Given the description of an element on the screen output the (x, y) to click on. 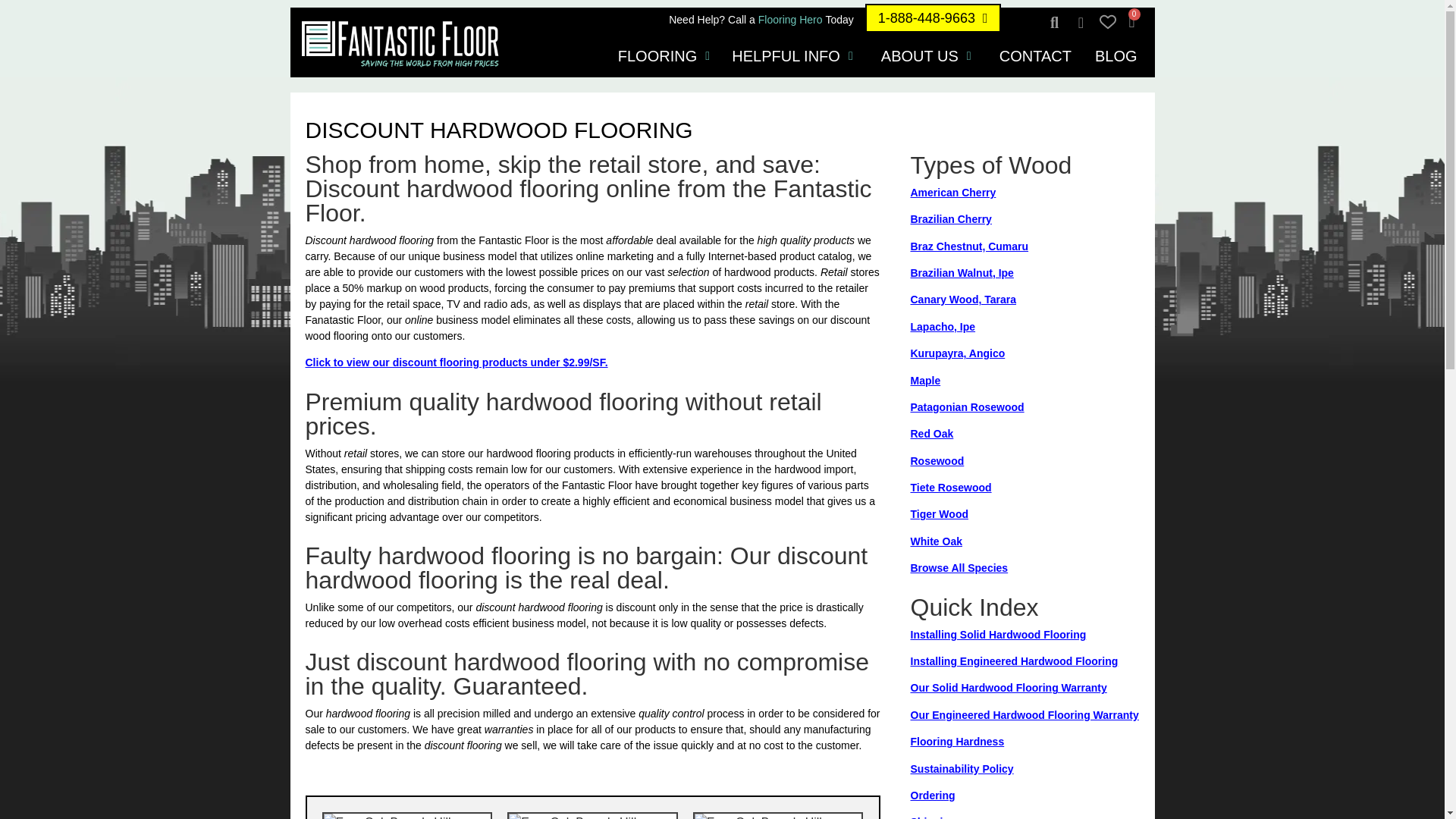
FLOORING (657, 56)
1-888-448-9663 (932, 18)
